Given the description of an element on the screen output the (x, y) to click on. 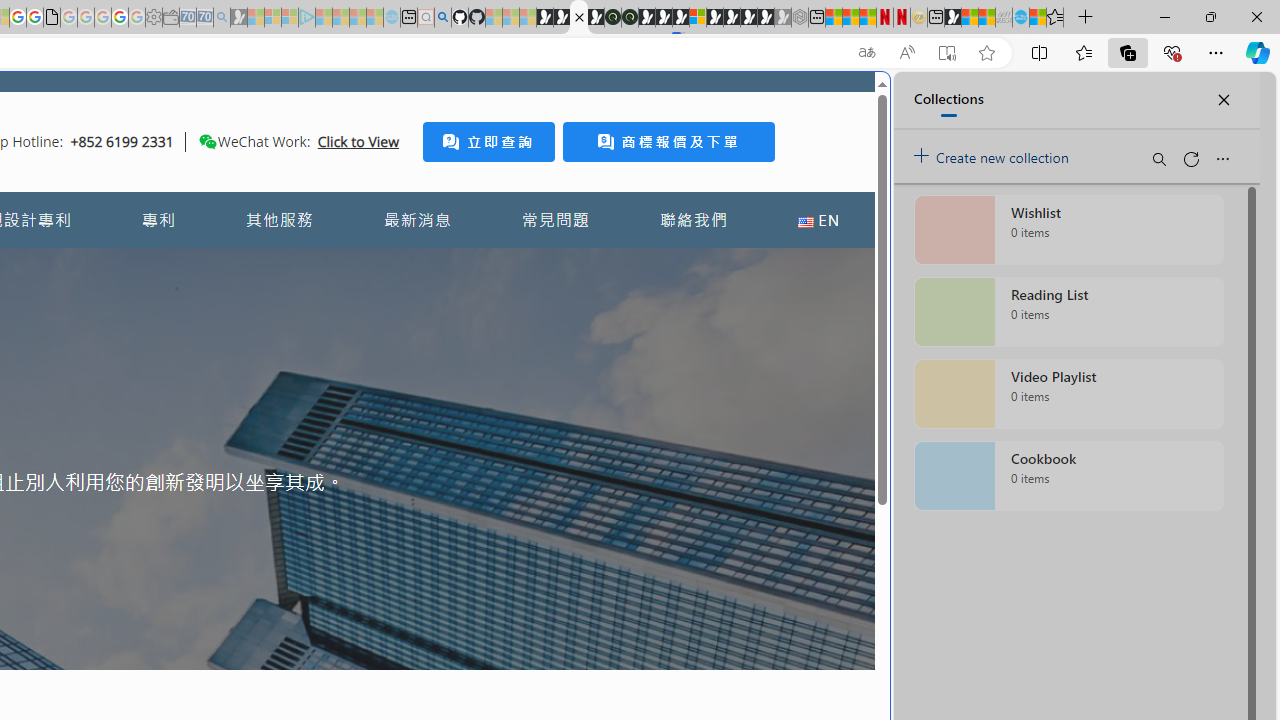
Play Cave FRVR in your browser | Games from Microsoft Start (663, 17)
Future Focus Report 2024 (629, 17)
Services - Maintenance | Sky Blue Bikes - Sky Blue Bikes (1020, 17)
Home | Sky Blue Bikes - Sky Blue Bikes (687, 426)
